Given the description of an element on the screen output the (x, y) to click on. 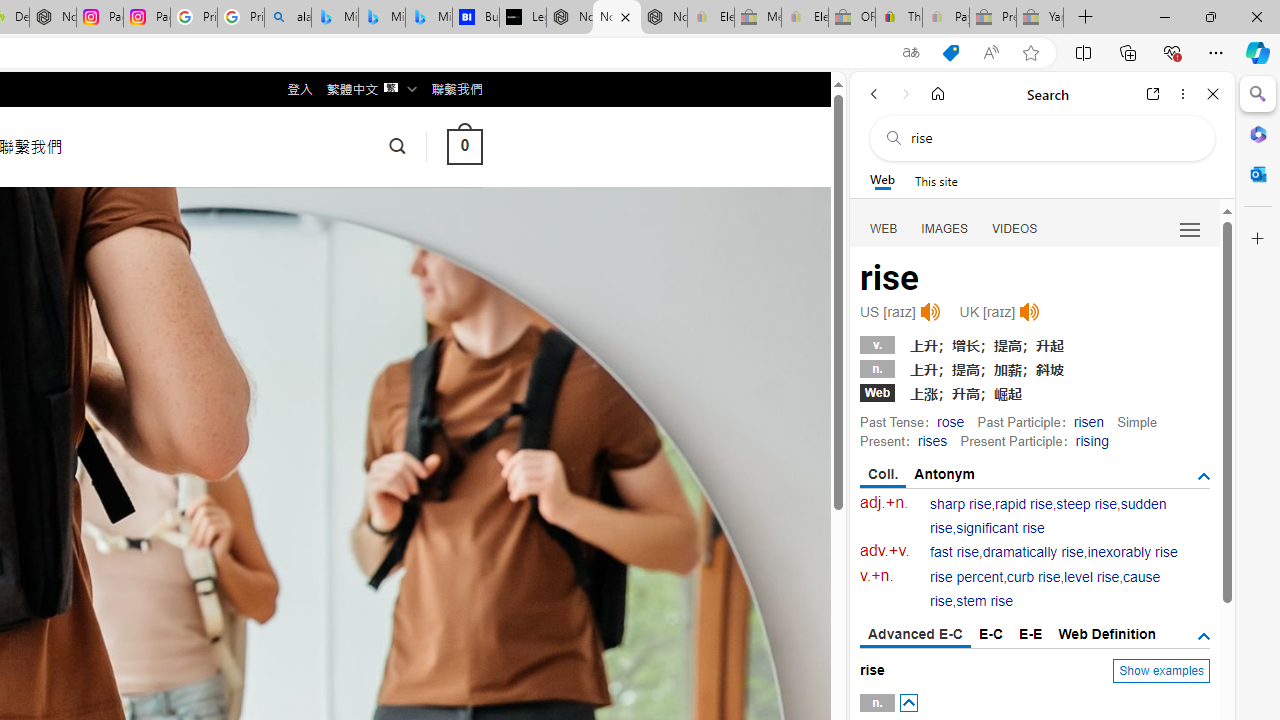
Forward (906, 93)
Show translate options (910, 53)
AutomationID: posbtn_0 (908, 703)
AutomationID: tgdef (1203, 636)
stem rise (984, 601)
Click to listen (1029, 312)
Payments Terms of Use | eBay.com - Sleeping (945, 17)
Yard, Garden & Outdoor Living - Sleeping (1040, 17)
